Given the description of an element on the screen output the (x, y) to click on. 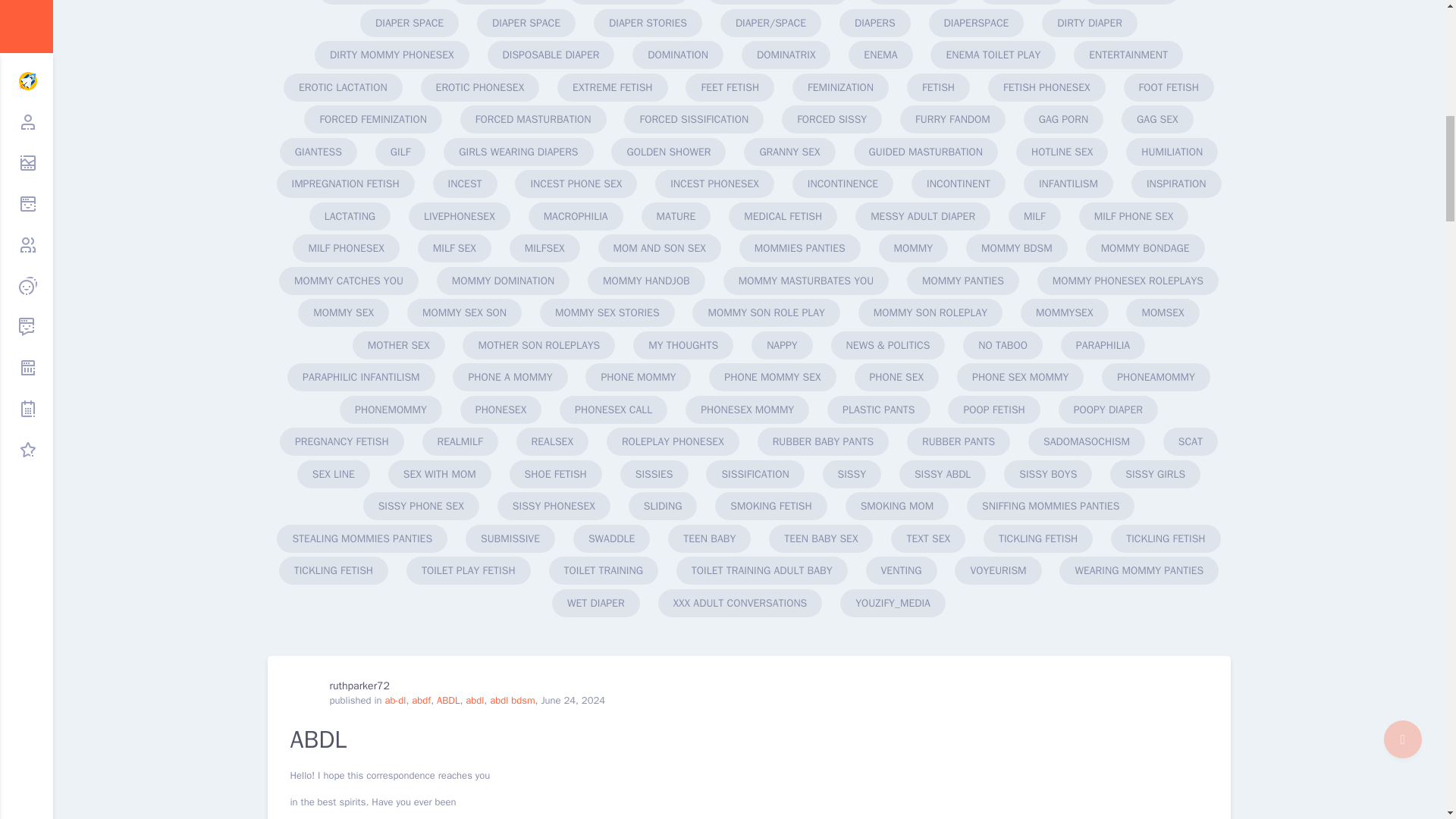
All posts from abdl bdsm (511, 699)
All posts from ABDL (448, 699)
All posts from ab-dl (395, 699)
All posts from abdl (474, 699)
All posts from abdf (421, 699)
